Given the description of an element on the screen output the (x, y) to click on. 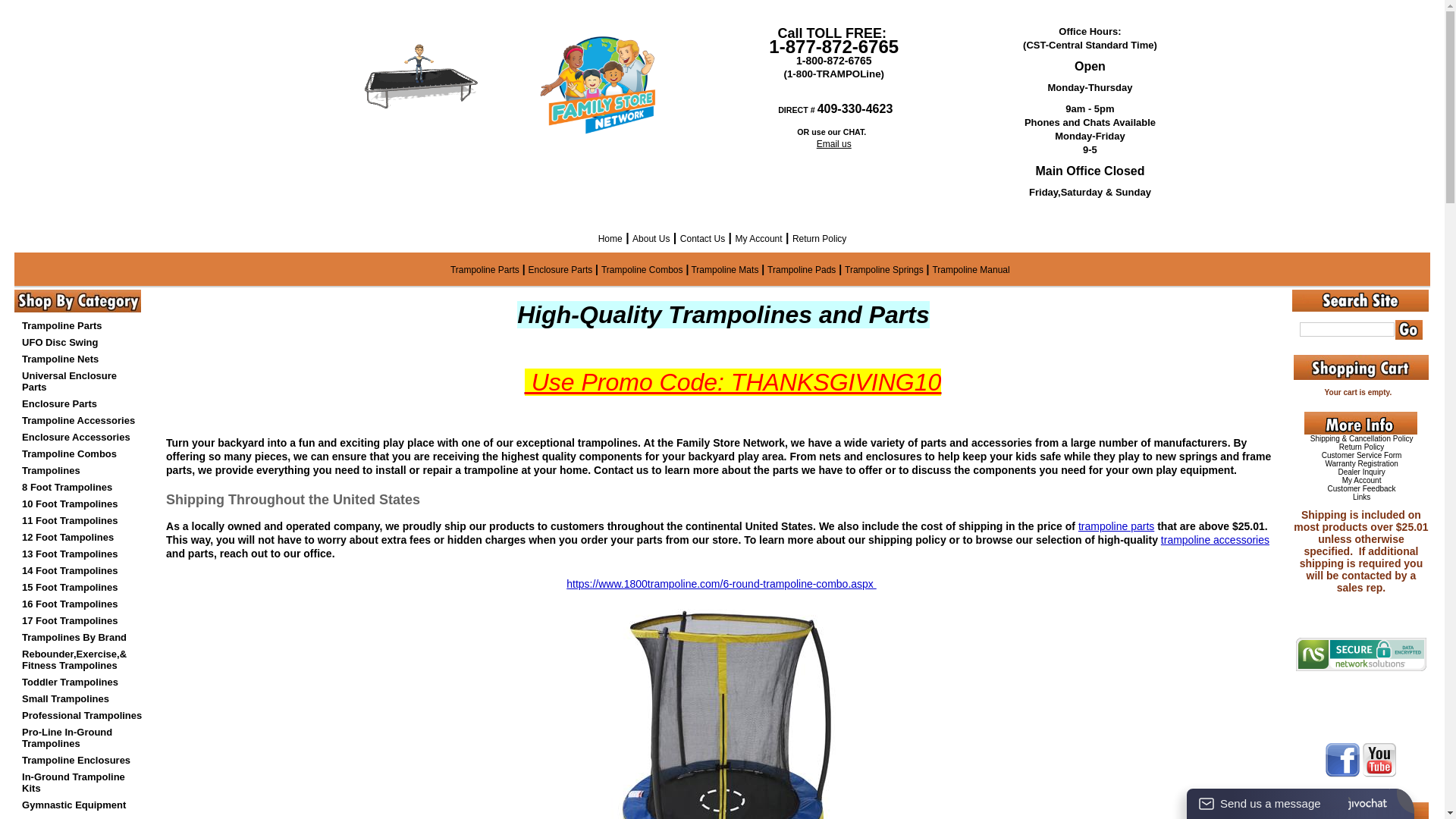
Professional Trampolines Element type: text (81, 715)
My Account Element type: text (758, 238)
Trampoline Combos Element type: text (68, 453)
Trampoline Parts Element type: text (484, 269)
Trampoline Springs Element type: text (883, 269)
Home Element type: text (610, 238)
Enclosure Parts Element type: text (560, 269)
Trampolines USA, Inc Youtube Channel Element type: hover (1379, 773)
Trampolines Element type: text (50, 470)
Trampolines By Brand Element type: text (73, 637)
Links Element type: text (1361, 496)
Trampolines U.S.A., Inc., Trampolines, Orange, TX Element type: hover (1360, 704)
UFO Disc Swing Element type: text (59, 342)
17 Foot Trampolines Element type: text (69, 620)
10 Foot Trampolines Element type: text (69, 503)
Trampoline Enclosures Element type: text (75, 759)
15 Foot Trampolines Element type: text (69, 587)
Dealer Inquiry Element type: text (1360, 471)
My Account Element type: text (1361, 480)
Warranty Registration Element type: text (1360, 463)
Enclosure Accessories Element type: text (75, 436)
Email us Element type: text (833, 143)
Gymnastic Equipment Element type: text (73, 804)
16 Foot Trampolines Element type: text (69, 603)
12 Foot Tampolines Element type: text (67, 536)
Pro-Line In-Ground Trampolines Element type: text (66, 737)
Toddler Trampolines Element type: text (69, 681)
Return Policy Element type: text (819, 238)
Trampolines USA Youtube Element type: hover (1379, 760)
In-Ground Trampoline Kits Element type: text (73, 782)
trampoline accessories Element type: text (1215, 539)
Rebounder,Exercise,& Fitness Trampolines Element type: text (73, 659)
Trampoline Parts Element type: text (61, 325)
trampoline parts Element type: text (1116, 526)
8 Foot Trampolines Element type: text (66, 486)
Trampoline Accessories Element type: text (77, 420)
Trampolines USA Facebook Element type: hover (1342, 760)
Contact Us Element type: text (702, 238)
 Trampoline Mats Element type: text (723, 269)
14 Foot Trampolines Element type: text (69, 570)
Trampoline Nets Element type: text (59, 358)
Trampoline Manual   Element type: text (972, 269)
11 Foot Trampolines Element type: text (69, 520)
Small Trampolines Element type: text (65, 698)
Customer Feedback Element type: text (1361, 488)
Trampoline Combos Element type: text (642, 269)
13 Foot Trampolines Element type: text (69, 553)
Return Policy Element type: text (1361, 446)
Shipping & Cancellation Policy Element type: text (1361, 438)
Universal Enclosure Parts Element type: text (68, 381)
Customer Service Form Element type: text (1361, 455)
Enclosure Parts Element type: text (59, 403)
About Us Element type: text (650, 238)
More Info Element type: hover (1360, 422)
Trampoline Pads Element type: text (801, 269)
